Given the description of an element on the screen output the (x, y) to click on. 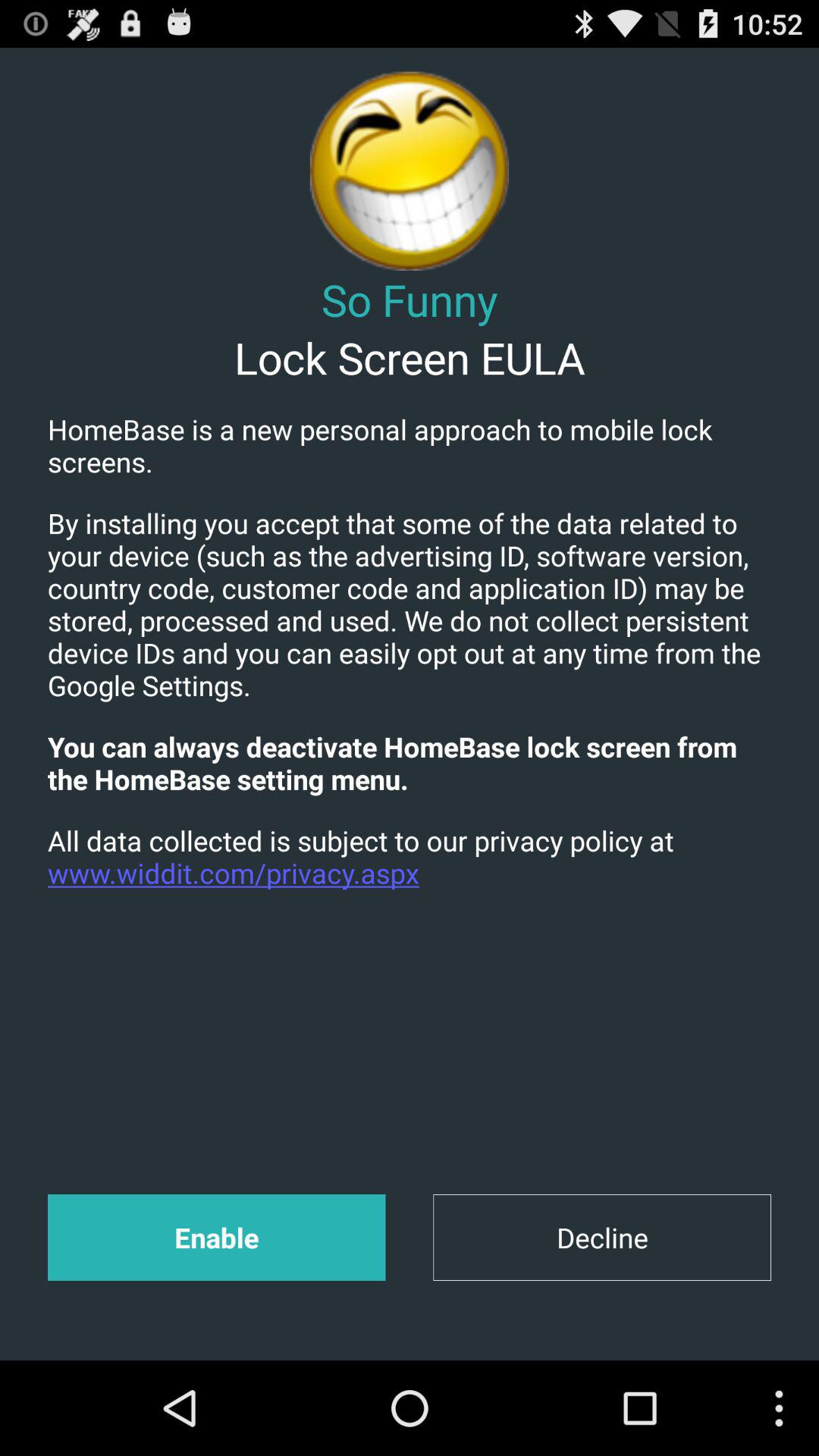
choose the item below all data collected item (601, 1237)
